Given the description of an element on the screen output the (x, y) to click on. 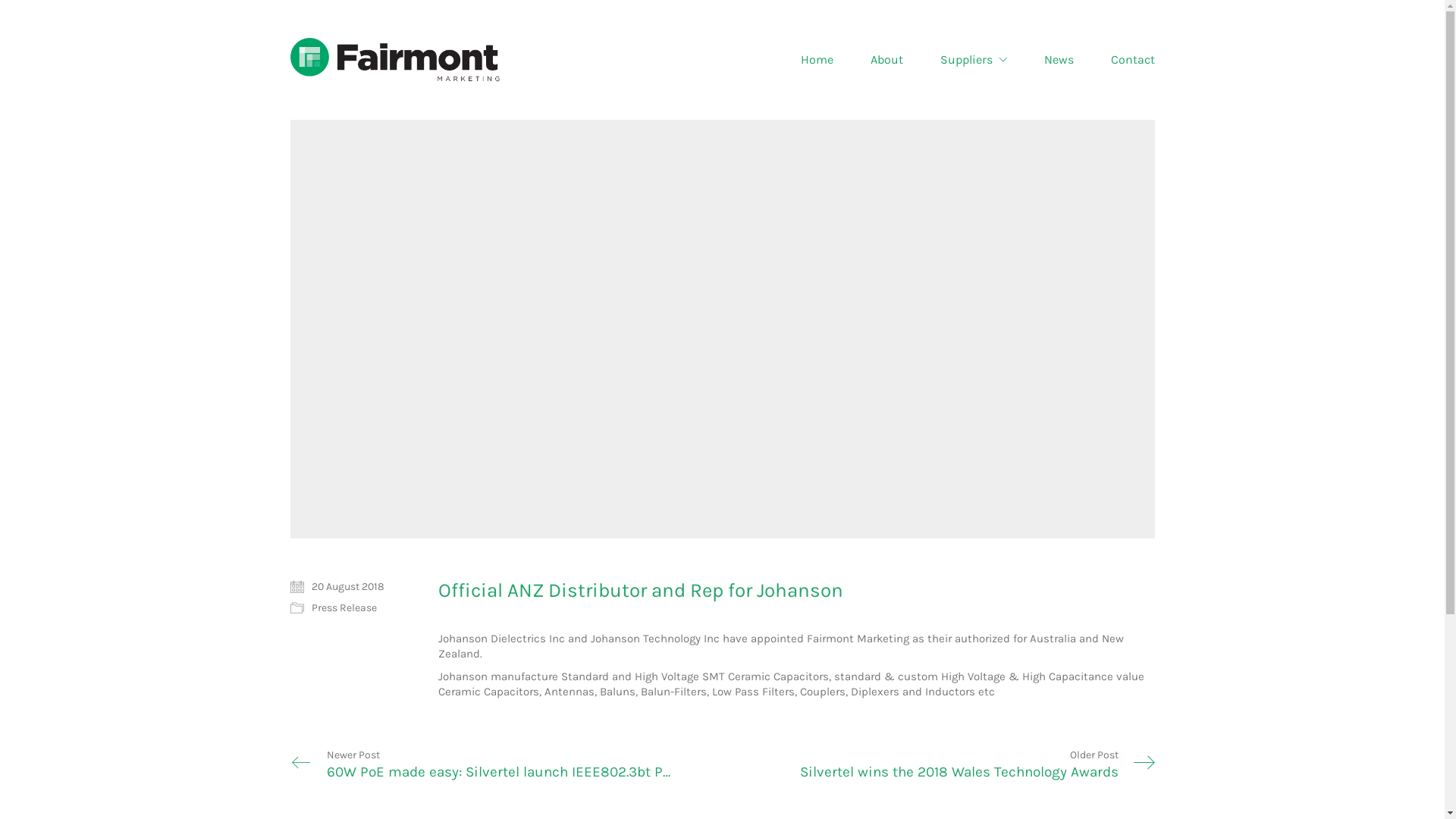
Suppliers Element type: text (973, 59)
About Element type: text (886, 59)
Home Element type: text (816, 59)
News Element type: text (1058, 59)
Older Post
Silvertel wins the 2018 Wales Technology Awards Element type: text (937, 764)
Press Release Element type: text (343, 608)
Contact Element type: text (1132, 59)
